Given the description of an element on the screen output the (x, y) to click on. 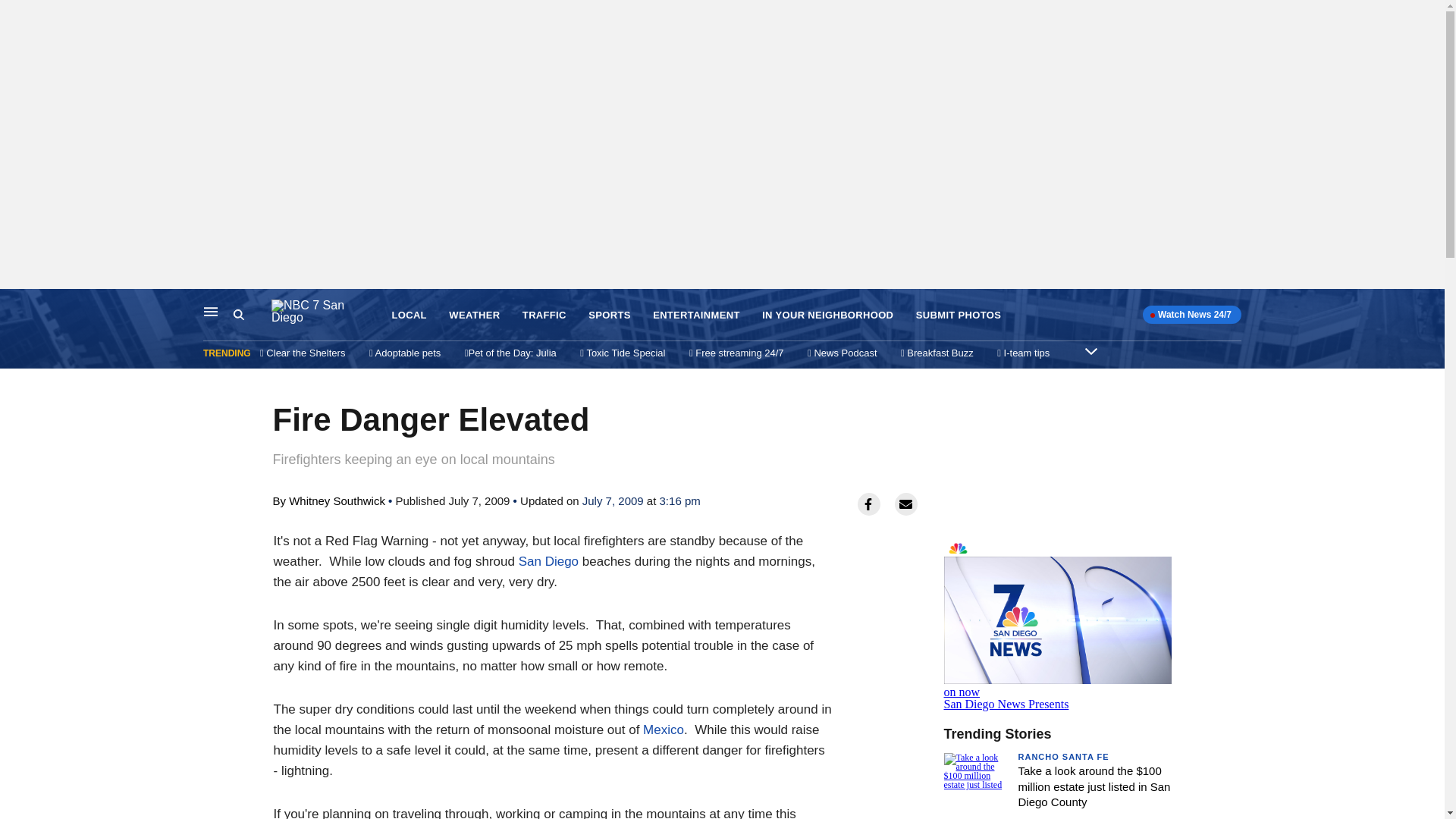
SPORTS (609, 315)
Expand (1090, 350)
Skip to content (16, 304)
San Diego (548, 561)
Main Navigation (210, 311)
TRAFFIC (544, 315)
WEATHER (473, 315)
LOCAL (408, 315)
ENTERTAINMENT (1056, 620)
